Given the description of an element on the screen output the (x, y) to click on. 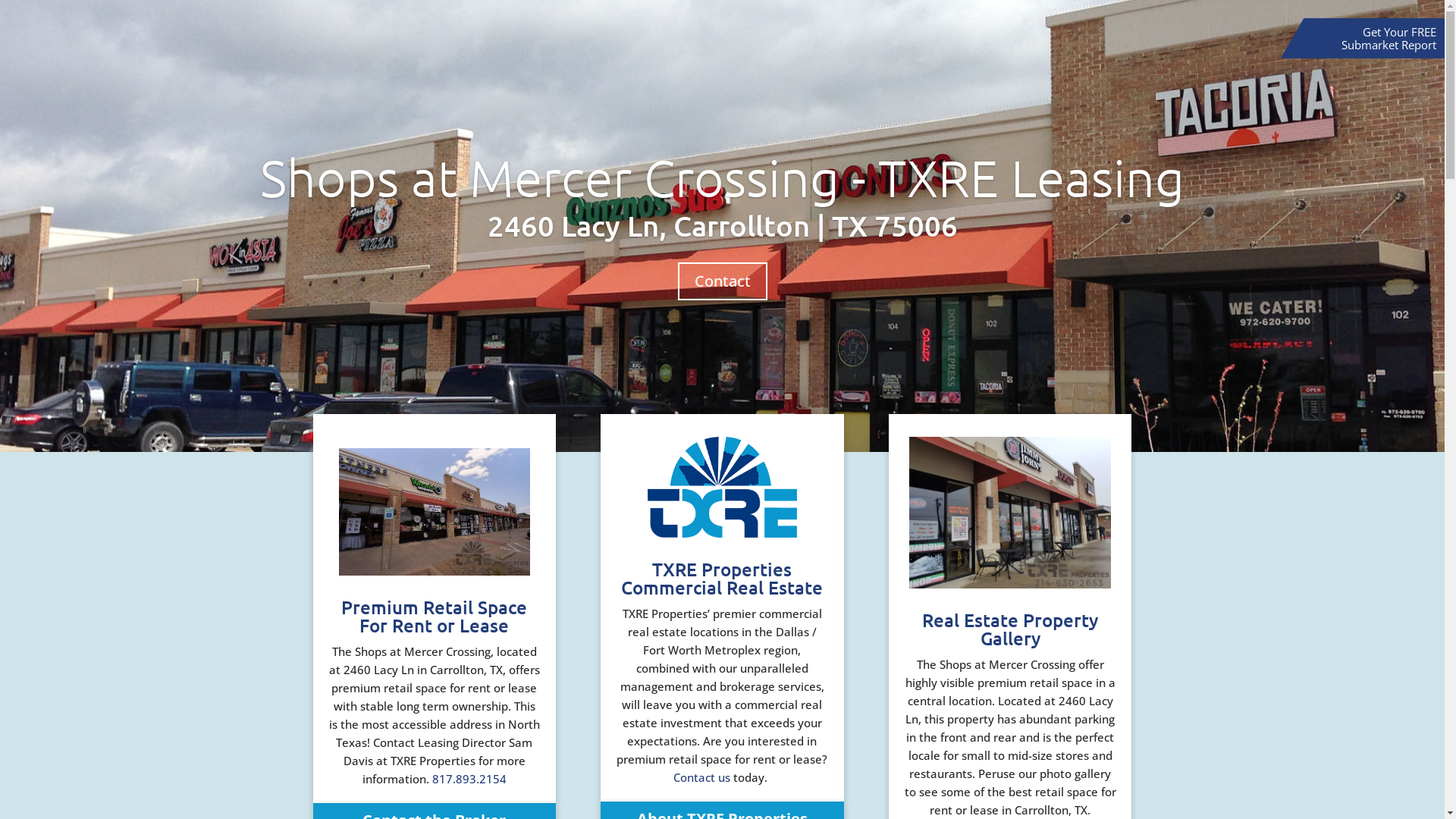
Get Your FREE
Submarket Report Element type: text (1388, 38)
Contact Element type: text (722, 281)
817.893.2154 Element type: text (469, 778)
Contact us Element type: text (701, 776)
Shops at Mercer Crossing - TXRE Leasing Element type: text (722, 177)
